Given the description of an element on the screen output the (x, y) to click on. 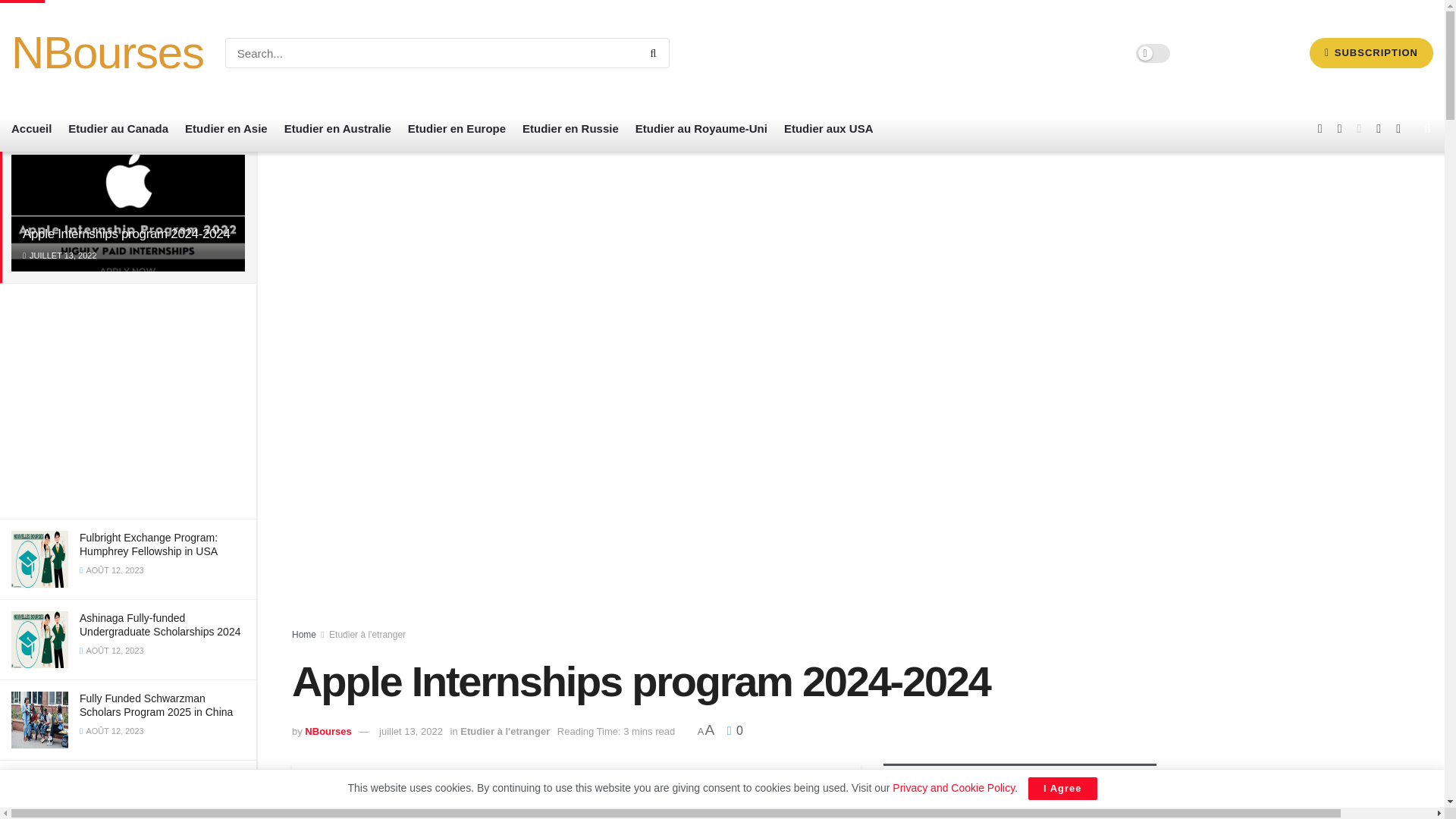
SUBSCRIPTION (1370, 52)
Etudier en Europe (456, 128)
NBourses (107, 53)
Apple Internships program 2024-2024 (126, 233)
Etudier en Asie (225, 128)
Ashinaga Fully-funded Undergraduate Scholarships 2024 (160, 624)
Etudier en Russie (570, 128)
Etudier au Canada (118, 128)
